Given the description of an element on the screen output the (x, y) to click on. 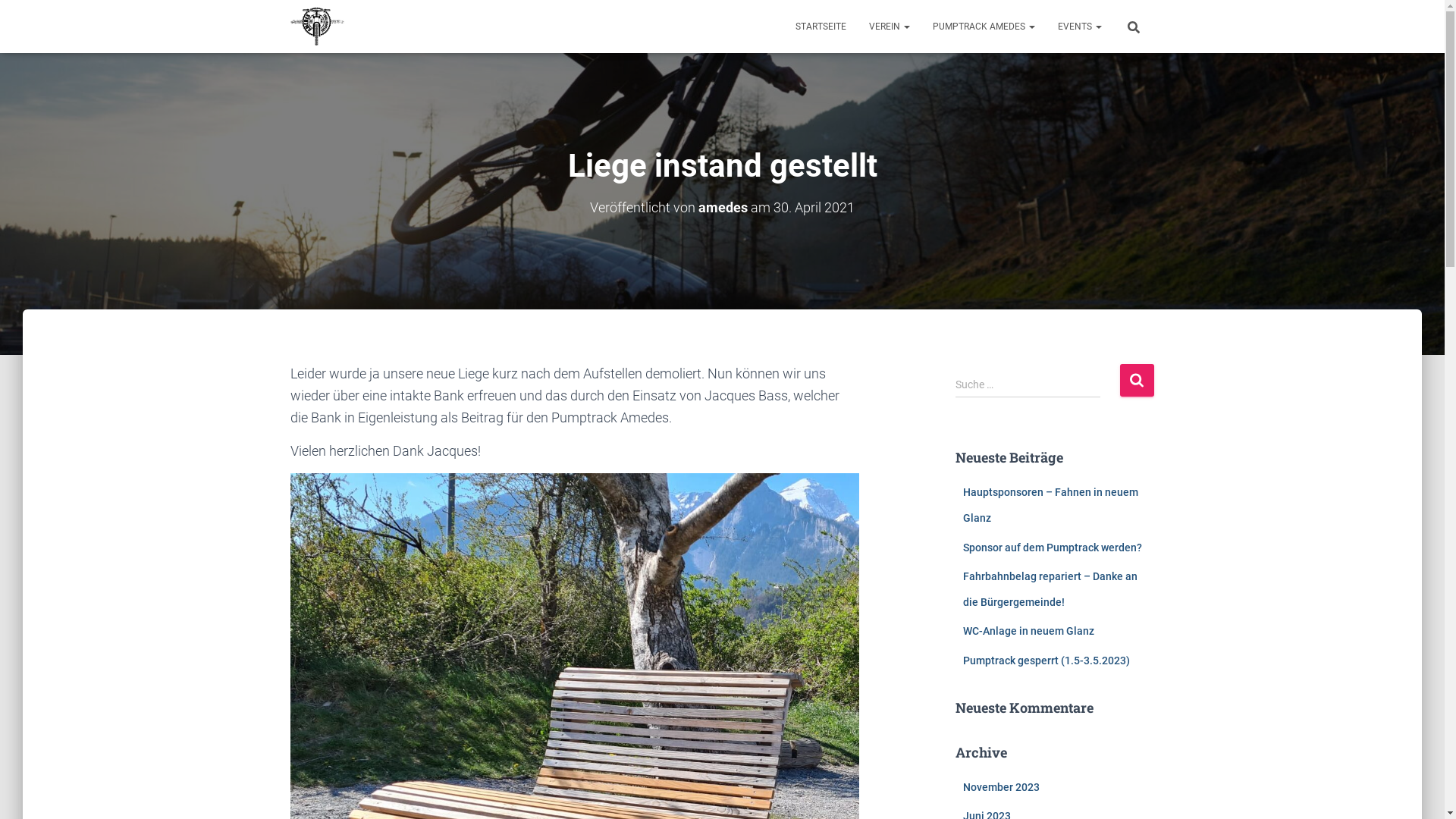
Suche Element type: text (1136, 380)
EVENTS Element type: text (1079, 26)
amedes Element type: text (722, 207)
VEREIN Element type: text (888, 26)
Sponsor auf dem Pumptrack werden? Element type: text (1052, 547)
STARTSEITE Element type: text (820, 26)
November 2023 Element type: text (1001, 787)
WC-Anlage in neuem Glanz Element type: text (1028, 630)
Pumptrack gesperrt (1.5-3.5.2023) Element type: text (1046, 660)
Suche Element type: text (3, 16)
Amedes Trail Hunters Element type: hover (317, 26)
PUMPTRACK AMEDES Element type: text (982, 26)
